Given the description of an element on the screen output the (x, y) to click on. 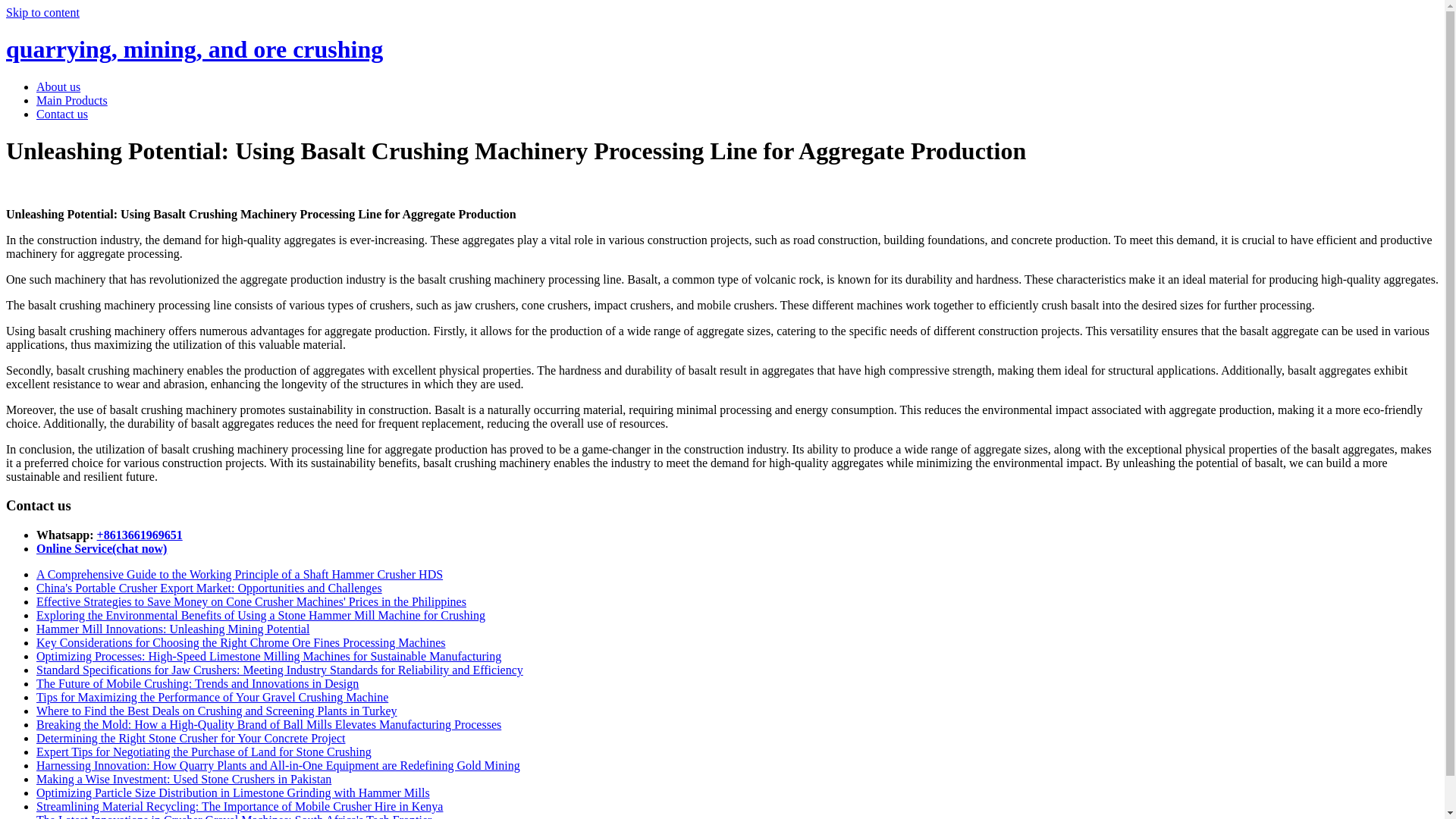
Hammer Mill Innovations: Unleashing Mining Potential (172, 628)
About us (58, 86)
Main Products (71, 100)
